Given the description of an element on the screen output the (x, y) to click on. 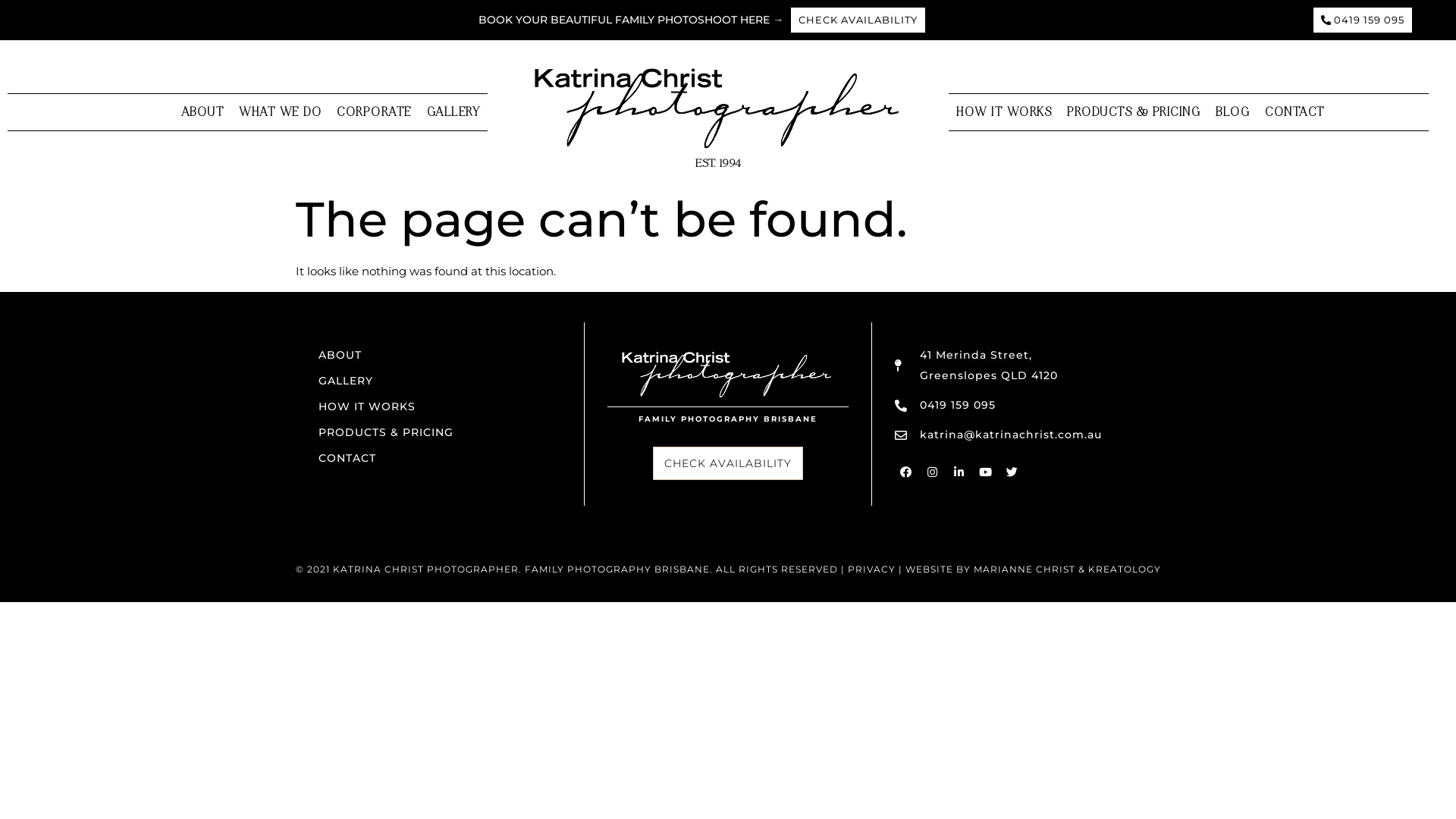
ABOUT Element type: text (202, 112)
katrina@katrinachrist.com.au Element type: text (997, 434)
HOW IT WORKS Element type: text (439, 406)
PRODUCTS & PRICING Element type: text (1133, 112)
0419 159 095 Element type: text (944, 405)
GALLERY Element type: text (453, 112)
HOW IT WORKS Element type: text (1003, 112)
0419 159 095 Element type: text (1362, 19)
PRODUCTS & PRICING Element type: text (439, 432)
BLOG Element type: text (1232, 112)
PRIVACY Element type: text (871, 568)
CHECK AVAILABILITY Element type: text (727, 463)
41 Merinda Street,
Greenslopes QLD 4120 Element type: text (975, 365)
CONTACT Element type: text (1294, 112)
CORPORATE Element type: text (374, 112)
ABOUT Element type: text (439, 355)
GALLERY Element type: text (439, 380)
KREATOLOGY Element type: text (1123, 568)
CONTACT Element type: text (439, 458)
WHAT WE DO Element type: text (280, 112)
CHECK AVAILABILITY Element type: text (857, 19)
